Given the description of an element on the screen output the (x, y) to click on. 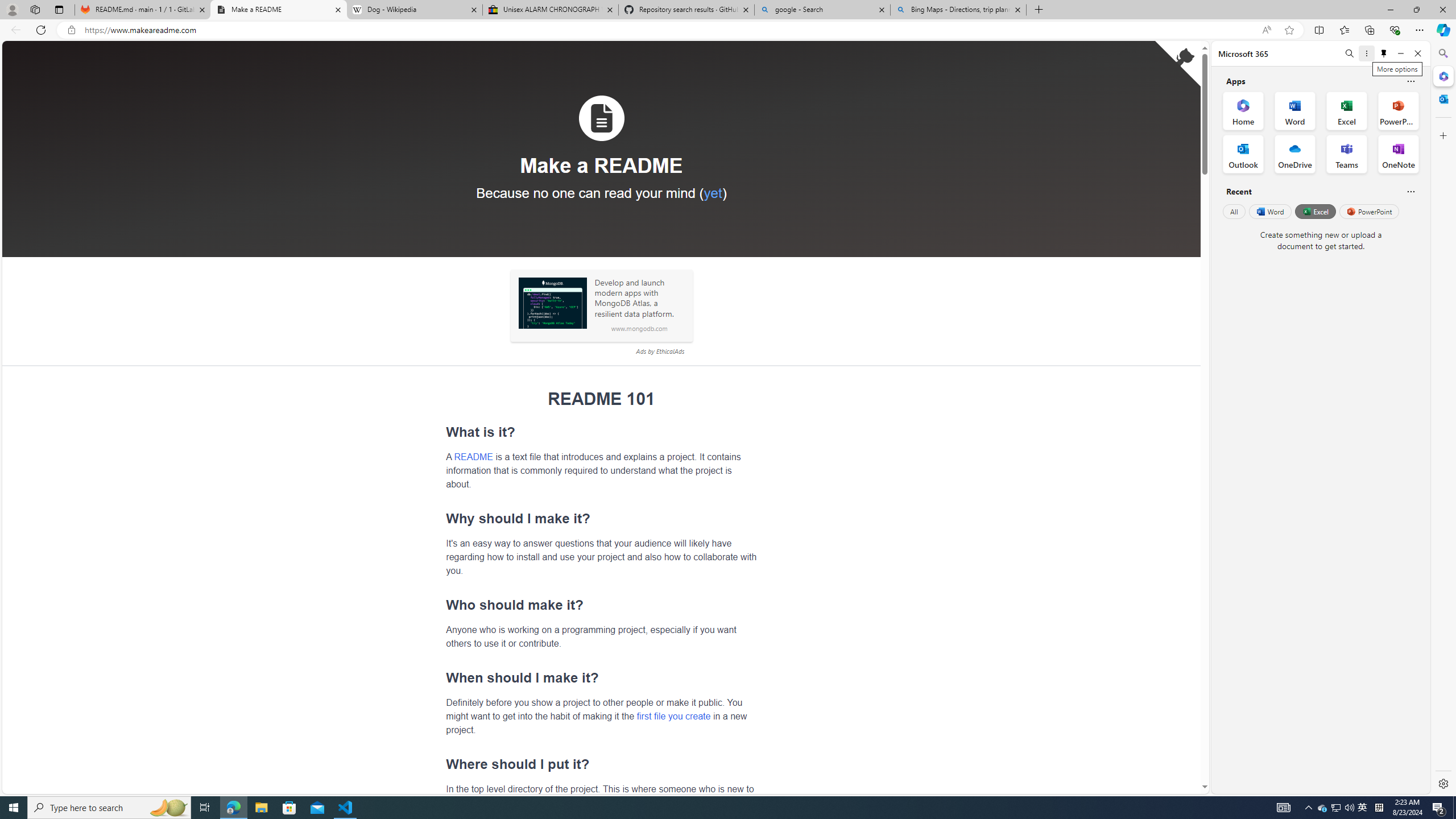
Word (1269, 210)
Open GitHub project (1177, 63)
Excel Office App (1346, 110)
Ads by EthicalAds (660, 351)
Dog - Wikipedia (414, 9)
Is this helpful? (1410, 191)
